Given the description of an element on the screen output the (x, y) to click on. 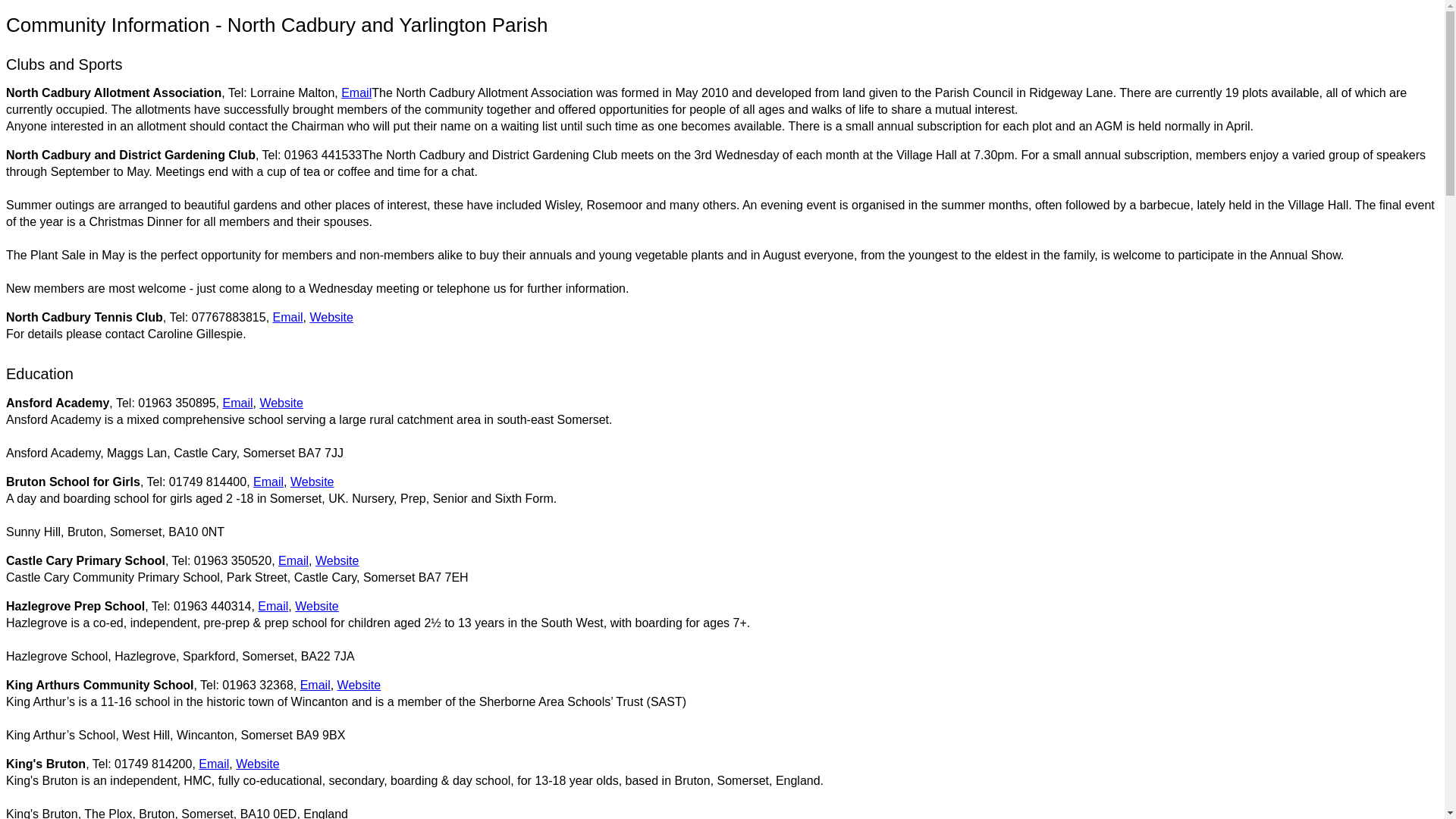
Website (257, 763)
Website (317, 605)
Email (237, 402)
Website (311, 481)
Website (337, 560)
Website (330, 317)
Email (213, 763)
Email (287, 317)
Website (280, 402)
Email (268, 481)
Email (355, 92)
Email (272, 605)
Email (314, 684)
Website (359, 684)
Email (293, 560)
